Given the description of an element on the screen output the (x, y) to click on. 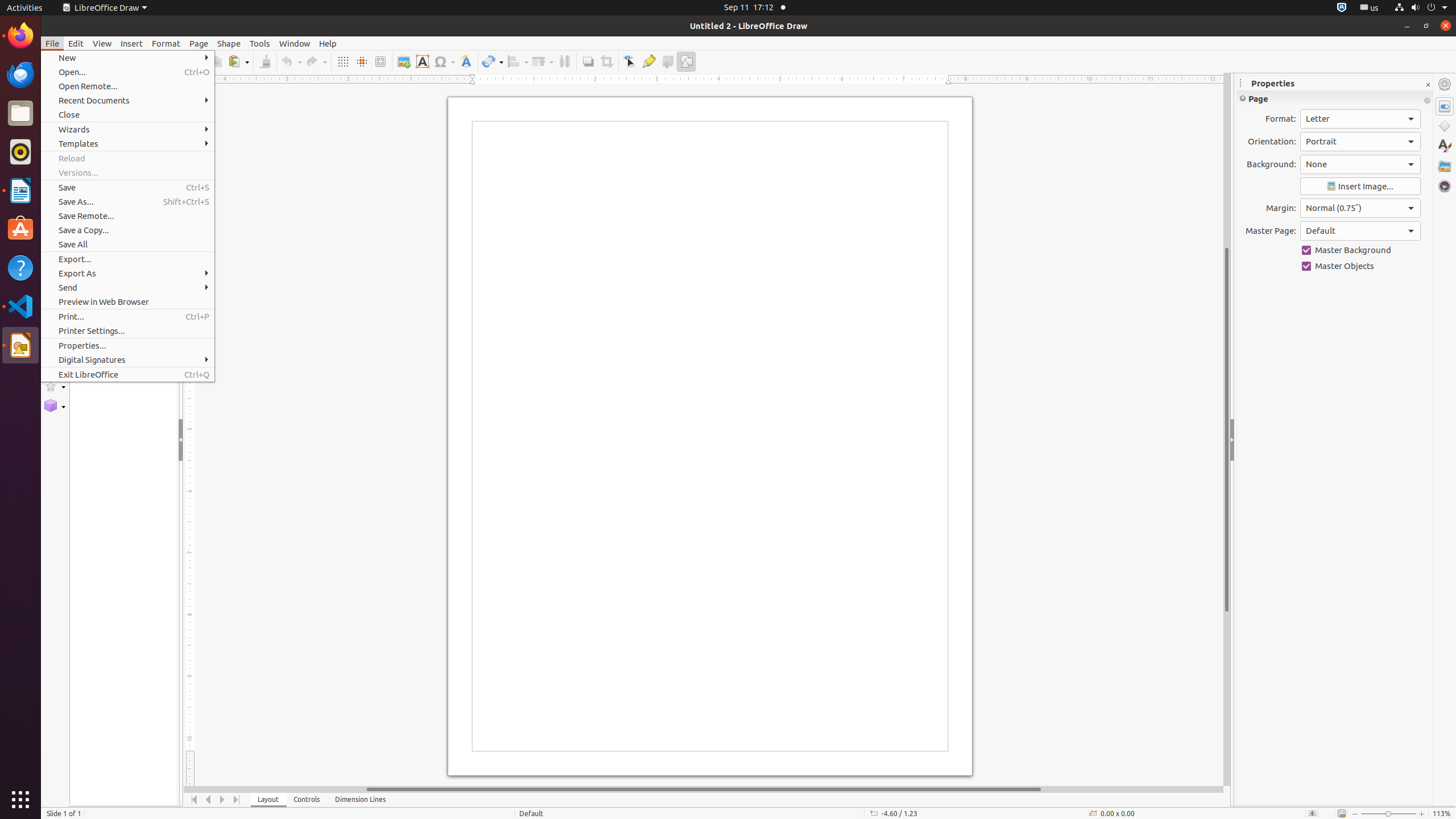
Save a Copy... Element type: menu-item (127, 229)
Export As Element type: menu (127, 273)
Crop Element type: push-button (606, 61)
System Element type: menu (1420, 7)
Layout Element type: page-tab (268, 799)
